Given the description of an element on the screen output the (x, y) to click on. 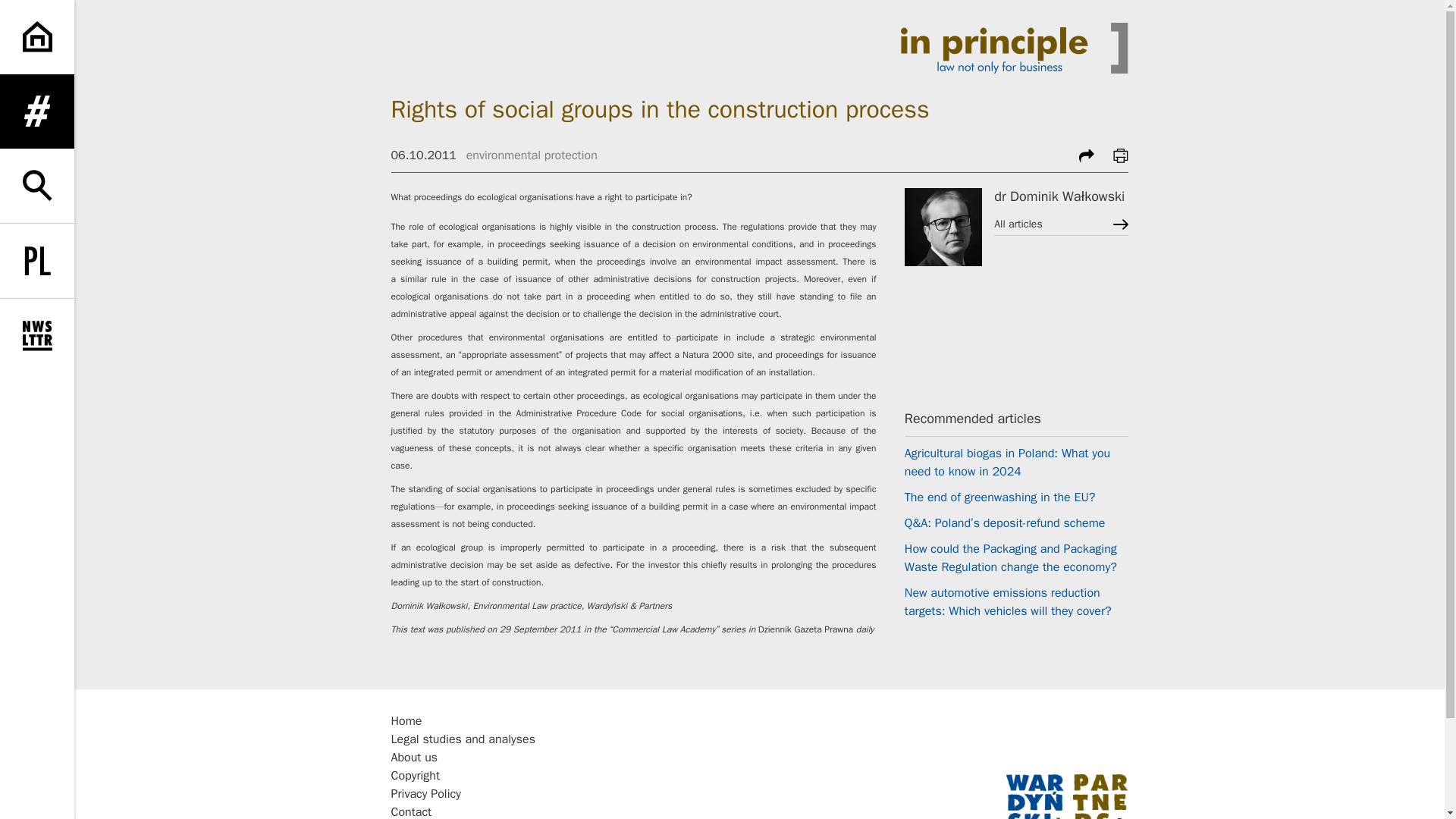
expand search form (37, 185)
expand menu (37, 111)
expand newsletter subscription form (37, 335)
